Given the description of an element on the screen output the (x, y) to click on. 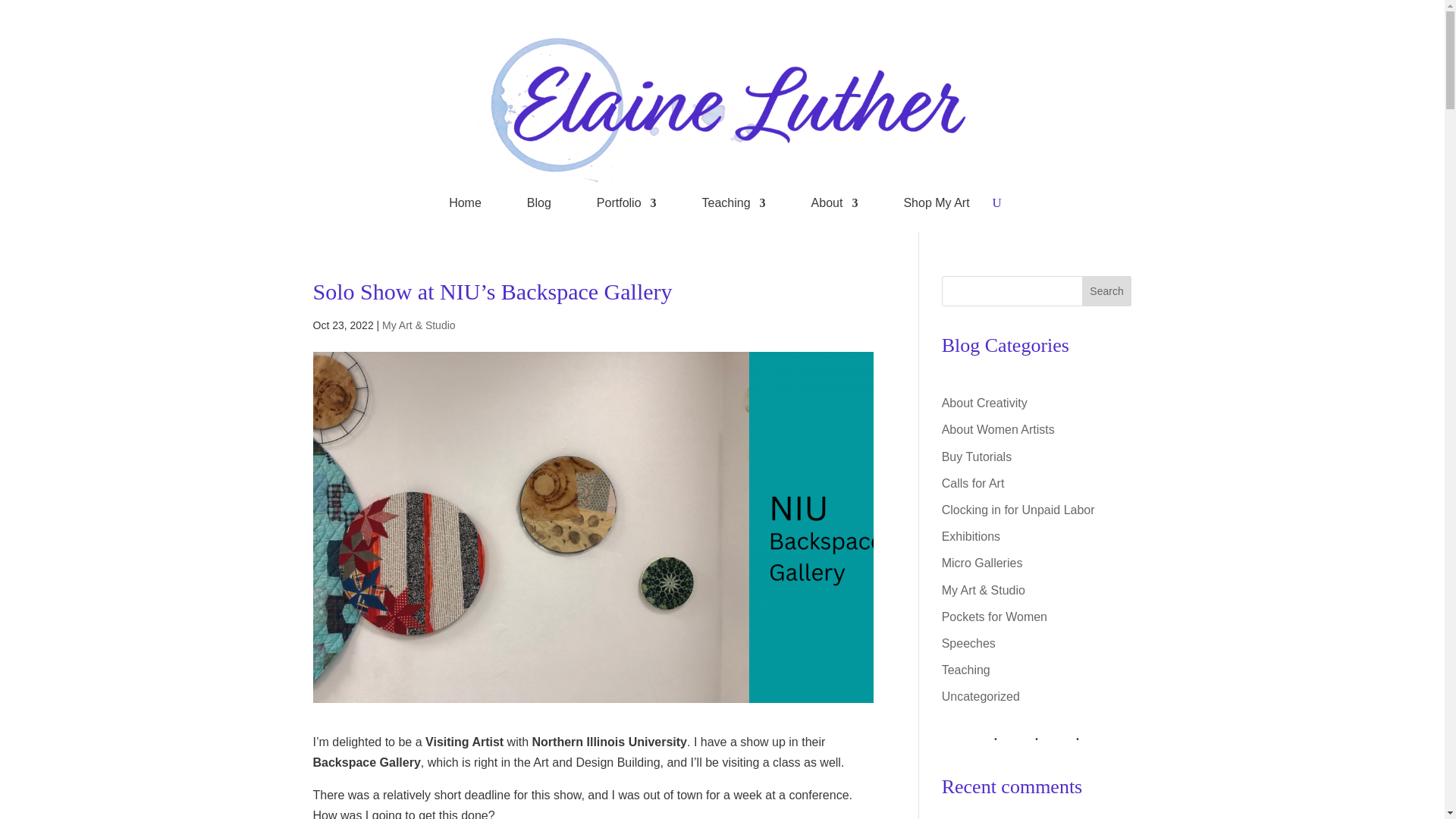
ELA2 (721, 110)
Shop My Art (935, 206)
Search (1106, 291)
Teaching (733, 206)
About (834, 206)
Blog (539, 206)
Home (464, 206)
Portfolio (626, 206)
